Given the description of an element on the screen output the (x, y) to click on. 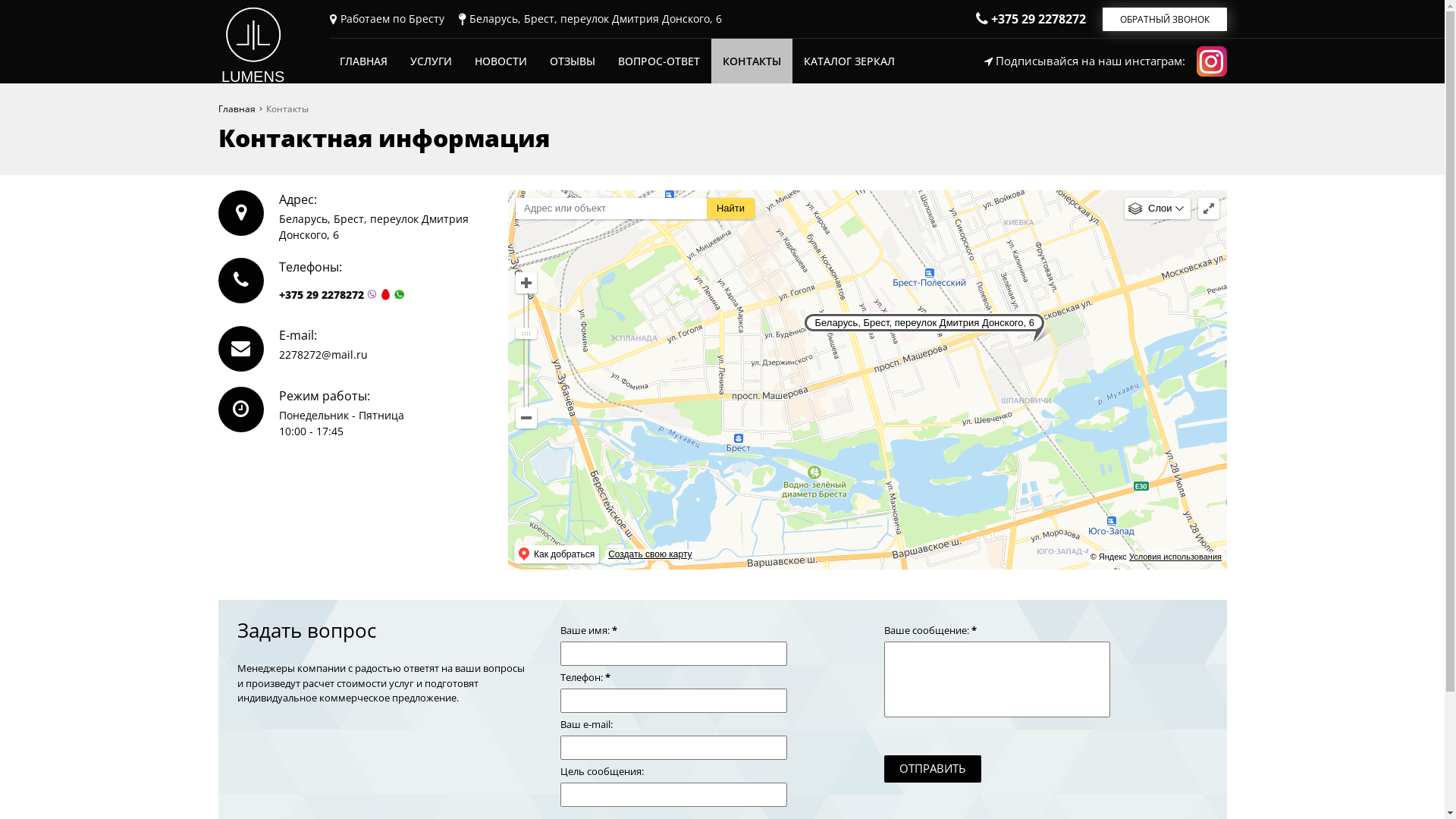
2278272@mail.ru Element type: text (323, 354)
+375 29 2278272 Element type: text (321, 294)
LUMENS Element type: text (253, 42)
